Given the description of an element on the screen output the (x, y) to click on. 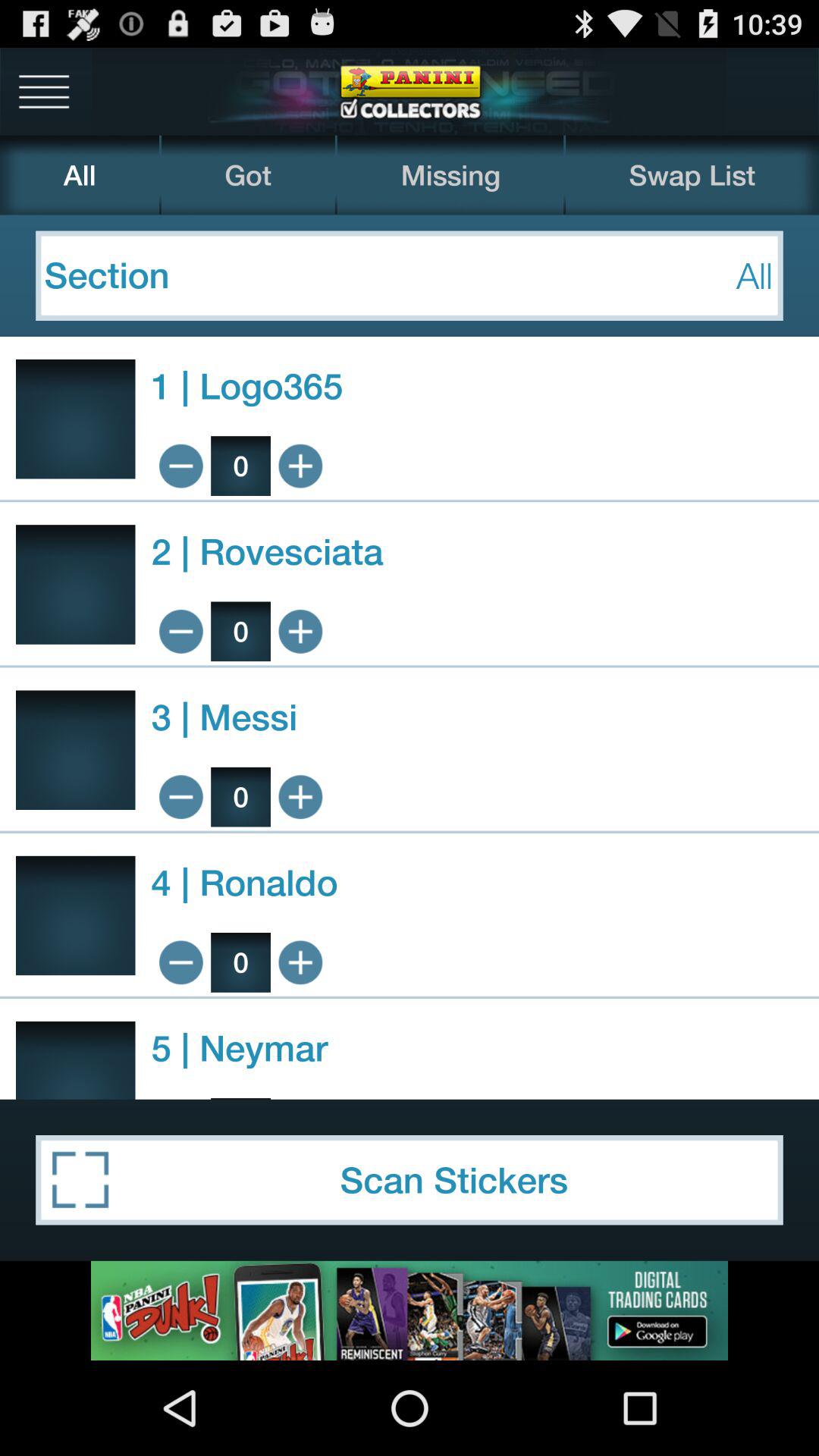
add one (300, 631)
